Given the description of an element on the screen output the (x, y) to click on. 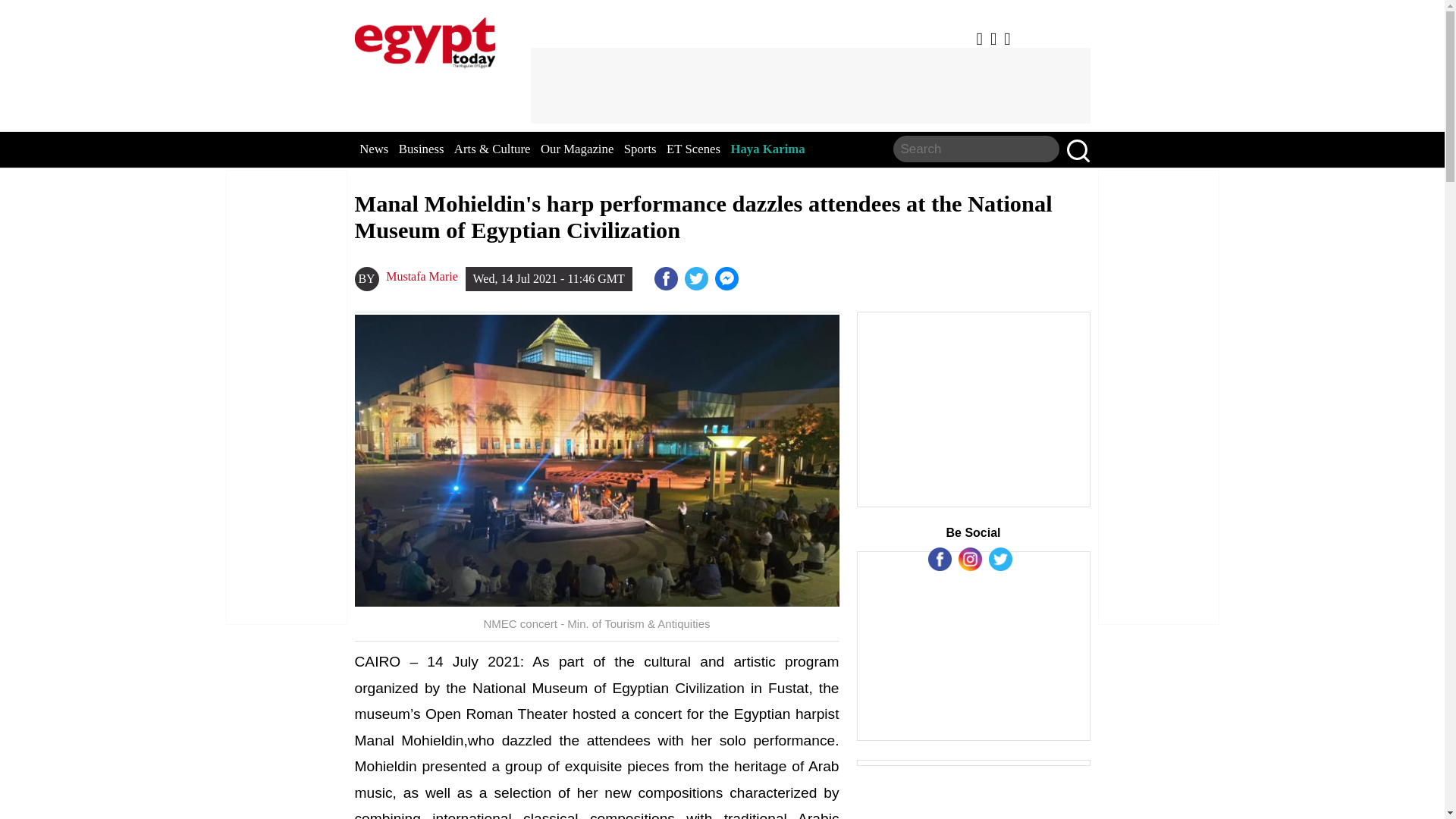
EgyptToday (425, 39)
Sports (640, 149)
3rd party ad content (973, 409)
Mustafa Marie (421, 276)
Business (421, 149)
3rd party ad content (810, 85)
News (373, 149)
Haya Karima (767, 149)
Sisi heads to Guinea first destination in overseas tour (727, 278)
Our Magazine (576, 149)
ET Scenes (693, 149)
